Given the description of an element on the screen output the (x, y) to click on. 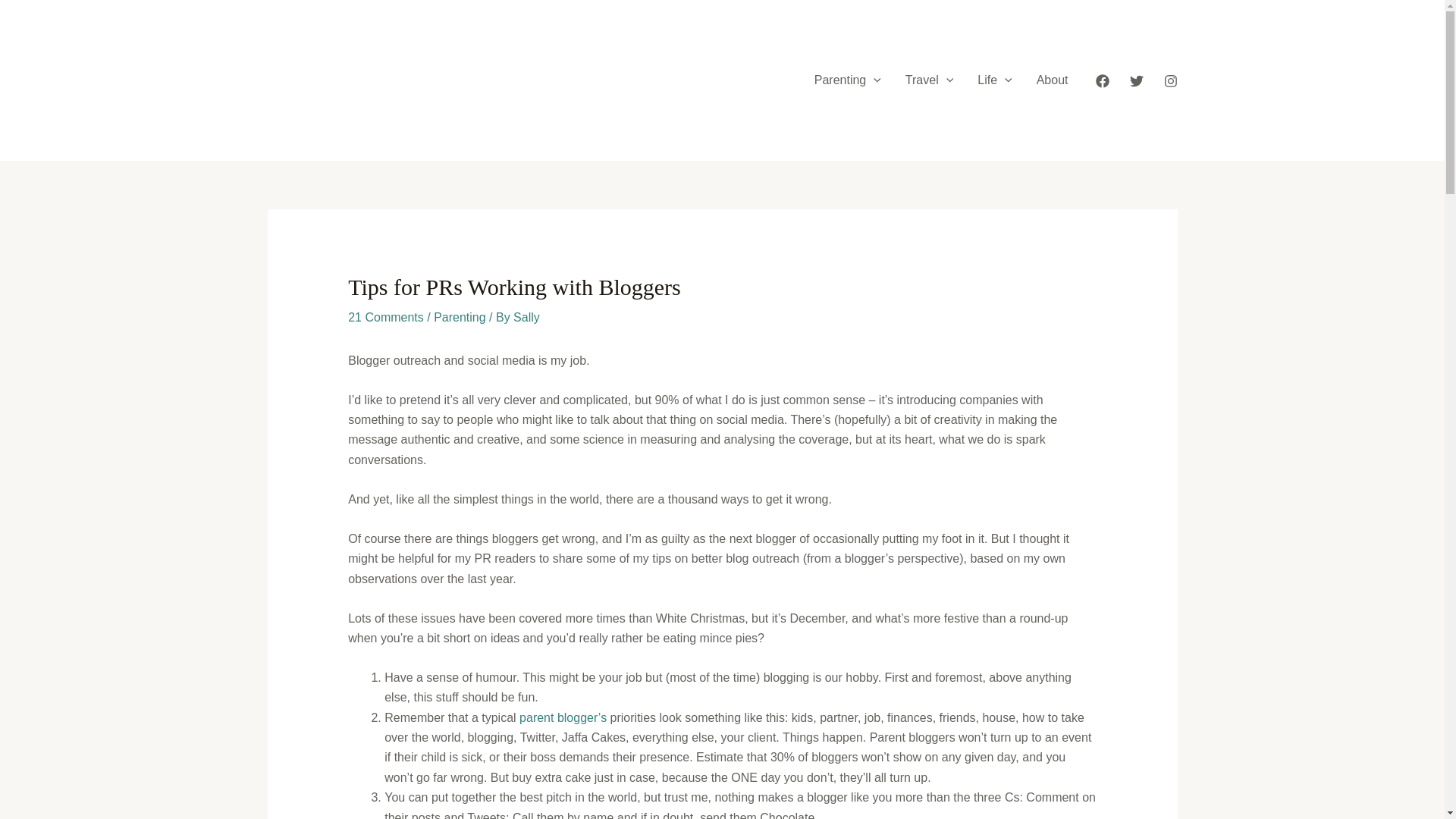
View all posts by Sally (526, 317)
Life (994, 80)
Parenting (847, 80)
Travel (929, 80)
About (1052, 80)
